Given the description of an element on the screen output the (x, y) to click on. 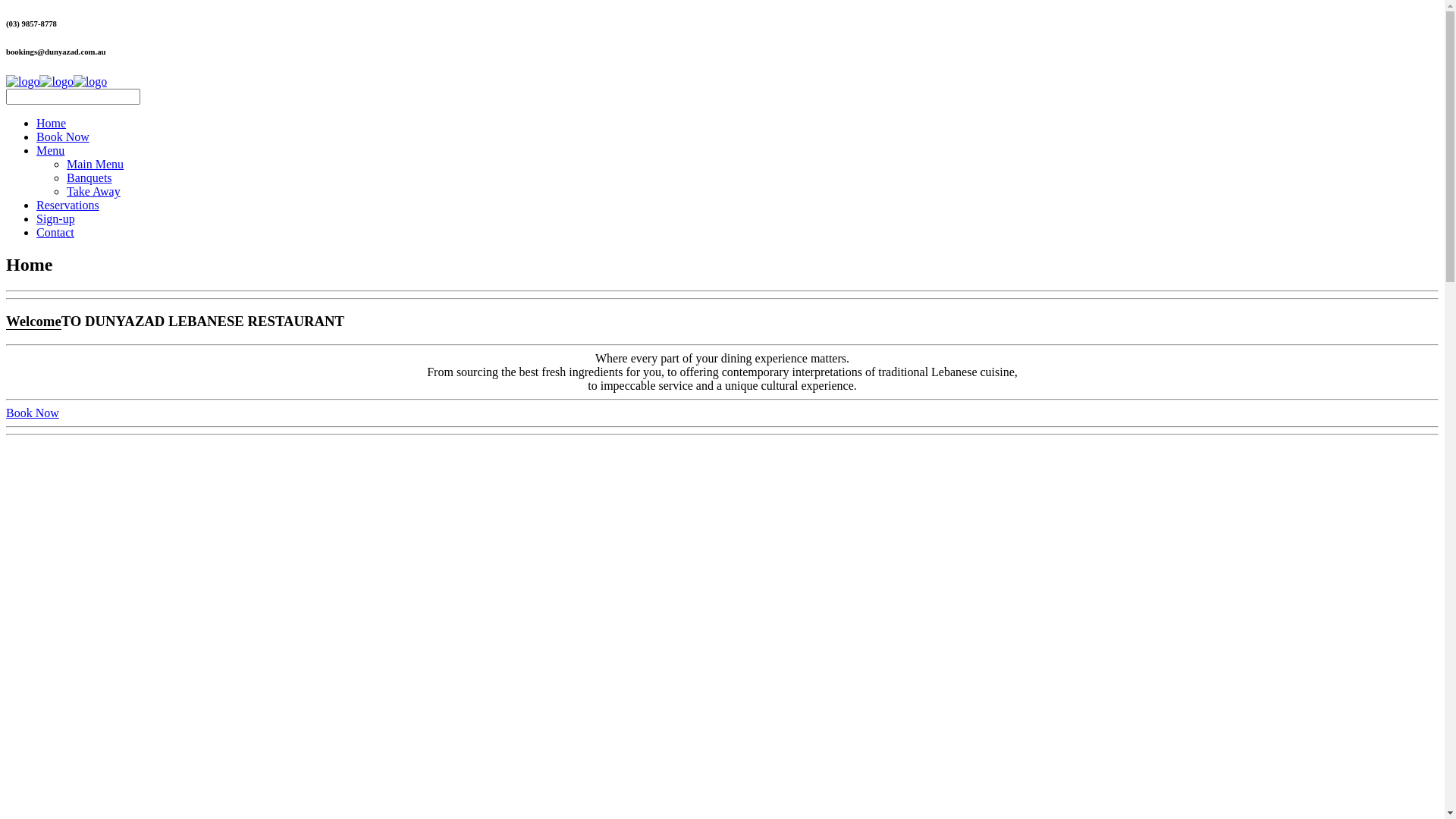
Banquets Element type: text (89, 177)
Home Element type: text (50, 122)
Sign-up Element type: text (55, 218)
Book Now Element type: text (32, 412)
Reservations Element type: text (67, 204)
Book Now Element type: text (62, 136)
Main Menu Element type: text (94, 163)
Take Away Element type: text (93, 191)
Menu Element type: text (50, 150)
Contact Element type: text (55, 231)
